Given the description of an element on the screen output the (x, y) to click on. 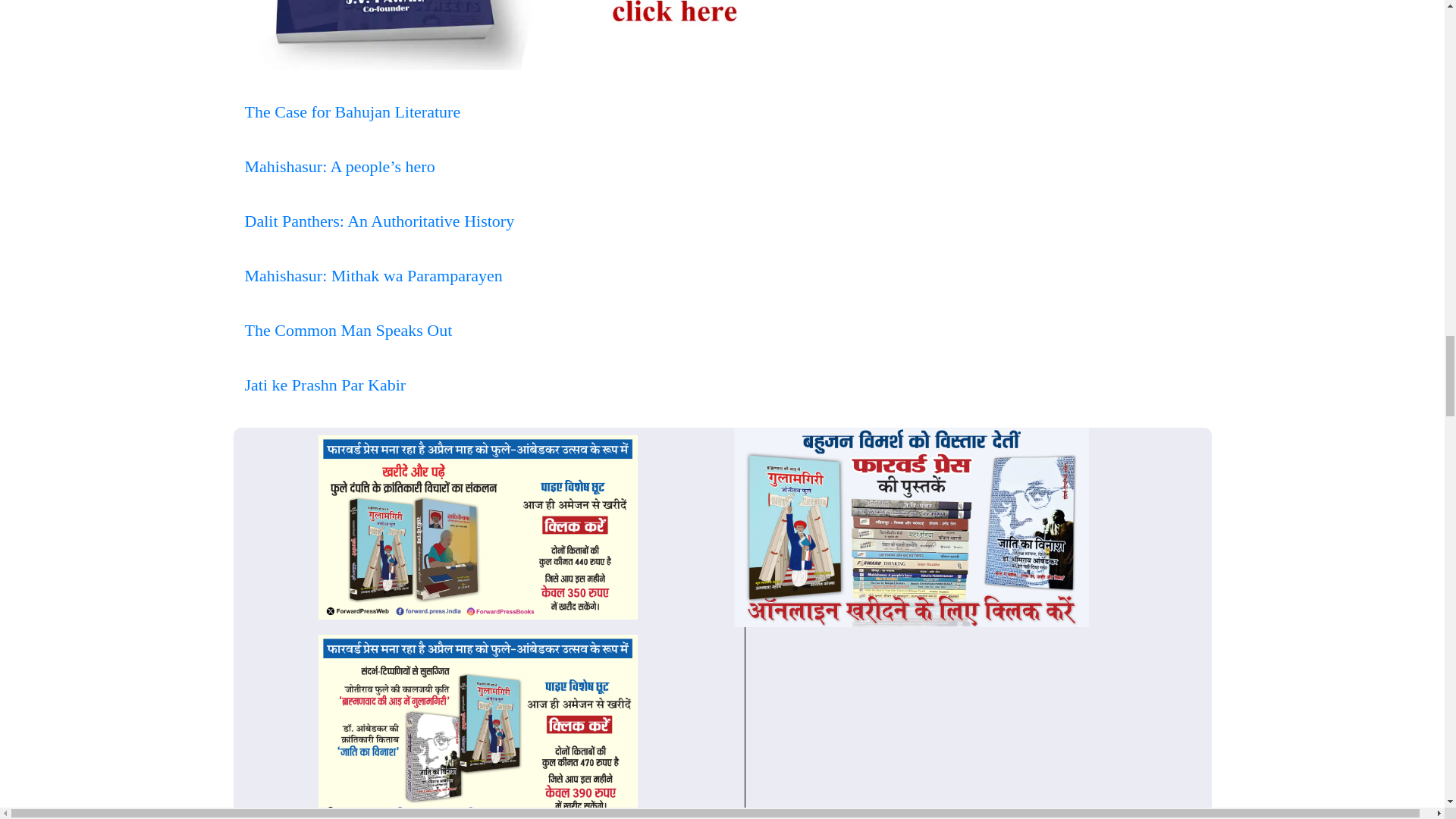
Mahishasur: Mithak wa Paramparayen (373, 275)
Jati ke Prashn Par Kabir (325, 384)
The Common Man Speaks Out (347, 330)
The Case for Bahujan Literature (352, 111)
Dalit Panthers: An Authoritative History (378, 220)
